Given the description of an element on the screen output the (x, y) to click on. 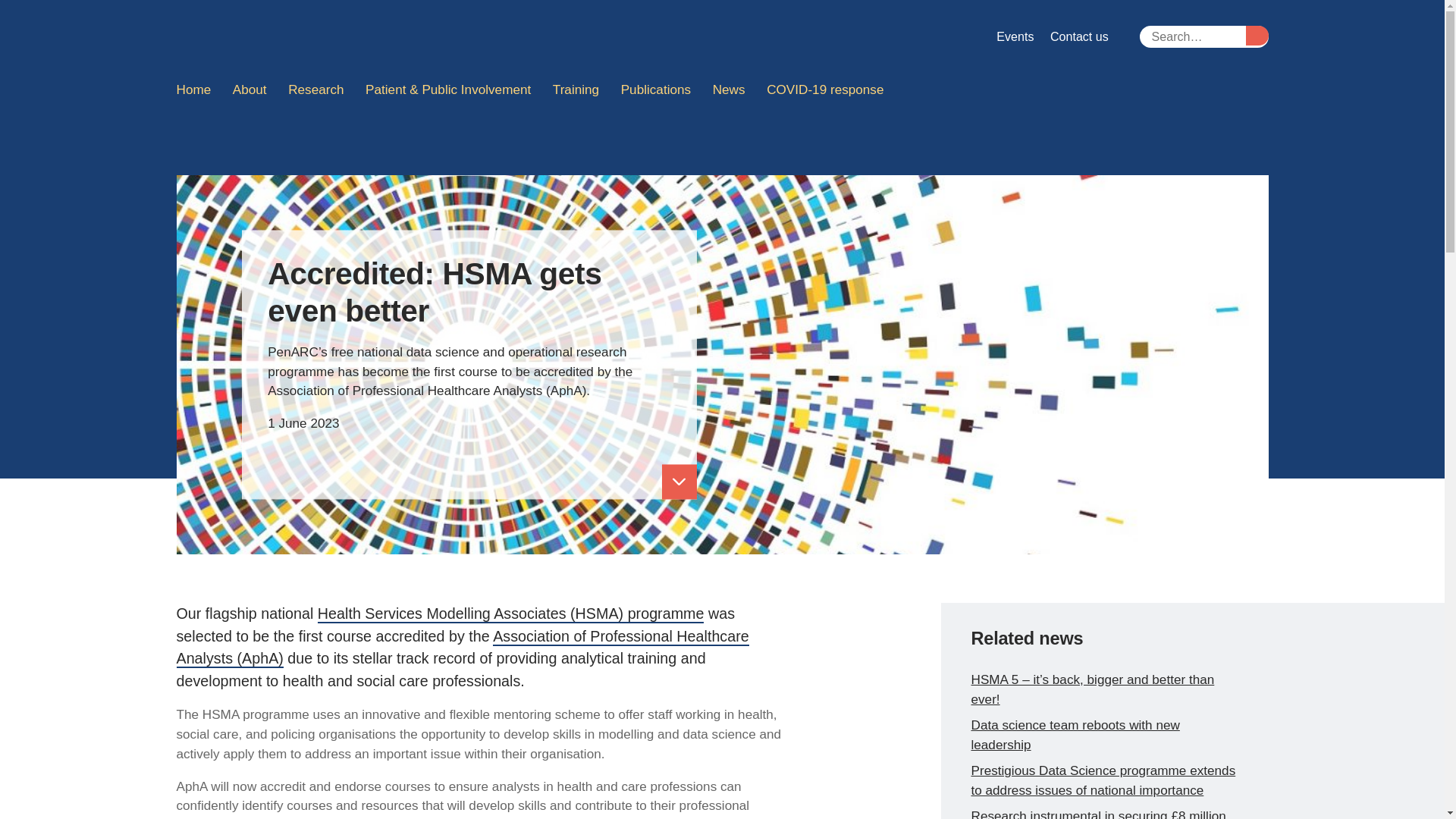
Events (1015, 35)
Contact us (1079, 35)
About (250, 90)
Publications (655, 90)
News (728, 90)
Research (316, 90)
COVID-19 response (825, 90)
Home (198, 90)
Training (575, 90)
Data science team reboots with new leadership (1075, 734)
PenARC: Applied Research Collaboration South West Peninsula (316, 37)
